Given the description of an element on the screen output the (x, y) to click on. 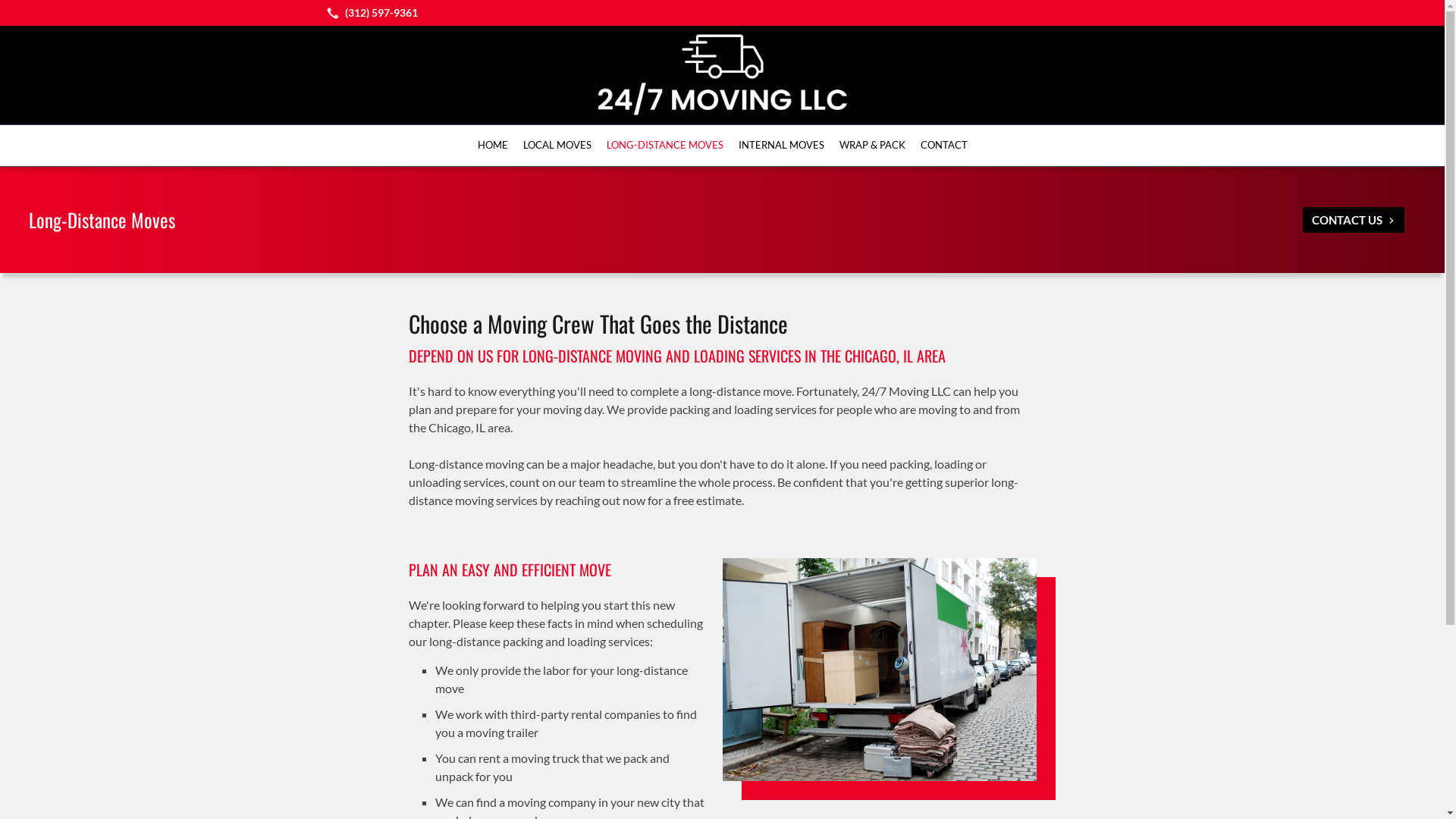
HOME Element type: text (492, 145)
INTERNAL MOVES Element type: text (781, 145)
LOCAL MOVES Element type: text (557, 145)
CONTACT US Element type: text (1353, 220)
LONG-DISTANCE MOVES Element type: text (665, 145)
CONTACT Element type: text (944, 145)
(312) 597-9361 Element type: hover (368, 12)
WRAP & PACK Element type: text (871, 145)
